Given the description of an element on the screen output the (x, y) to click on. 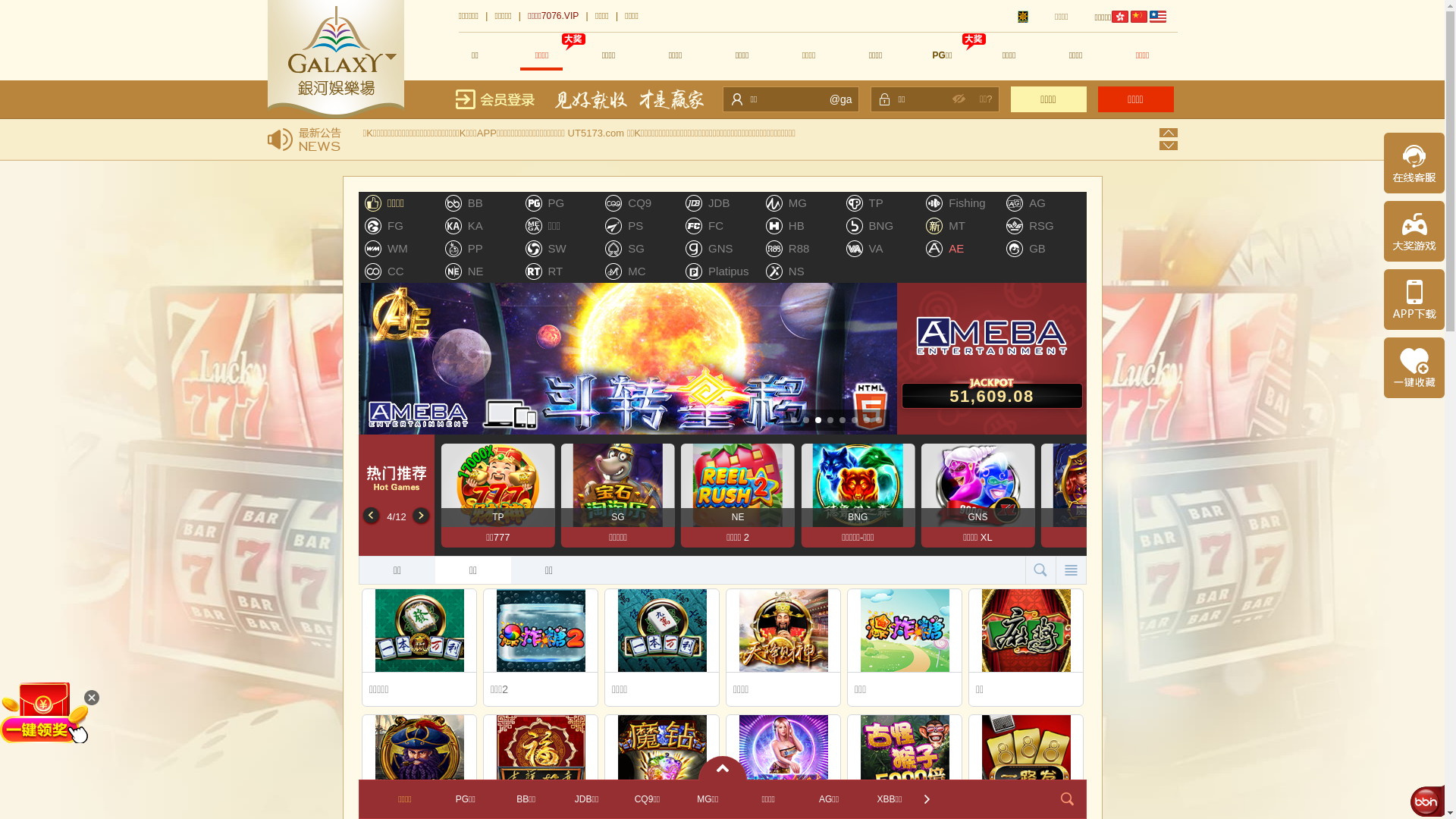
English Element type: hover (1157, 16)
